Given the description of an element on the screen output the (x, y) to click on. 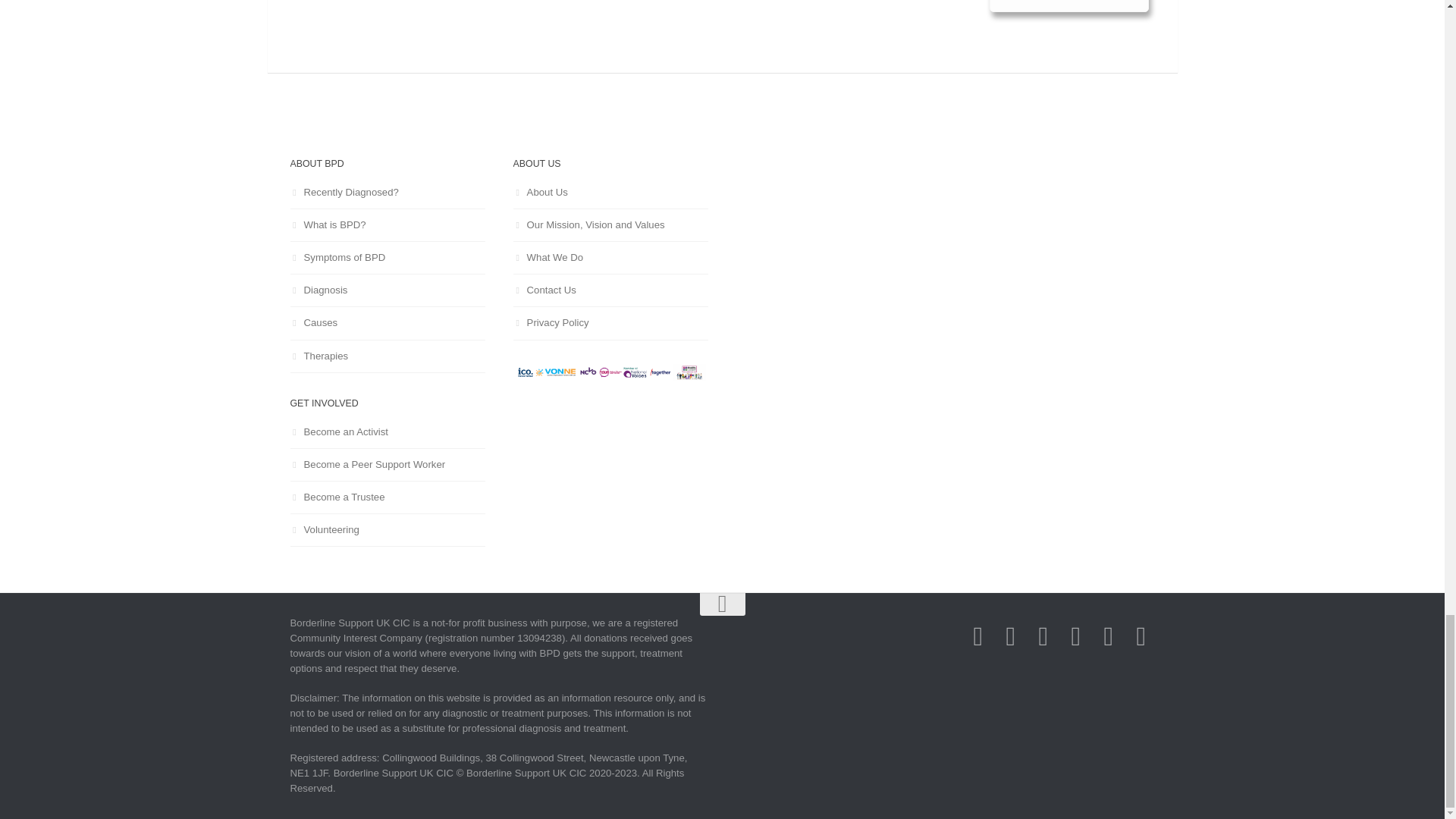
Follow us on Facebook (977, 636)
Follow us on Youtube (1107, 636)
Follow us on Pinterest (1140, 636)
Follow us on Linkedin (1075, 636)
Follow us on Instagram (1043, 636)
Follow us on Twitter (1010, 636)
